Given the description of an element on the screen output the (x, y) to click on. 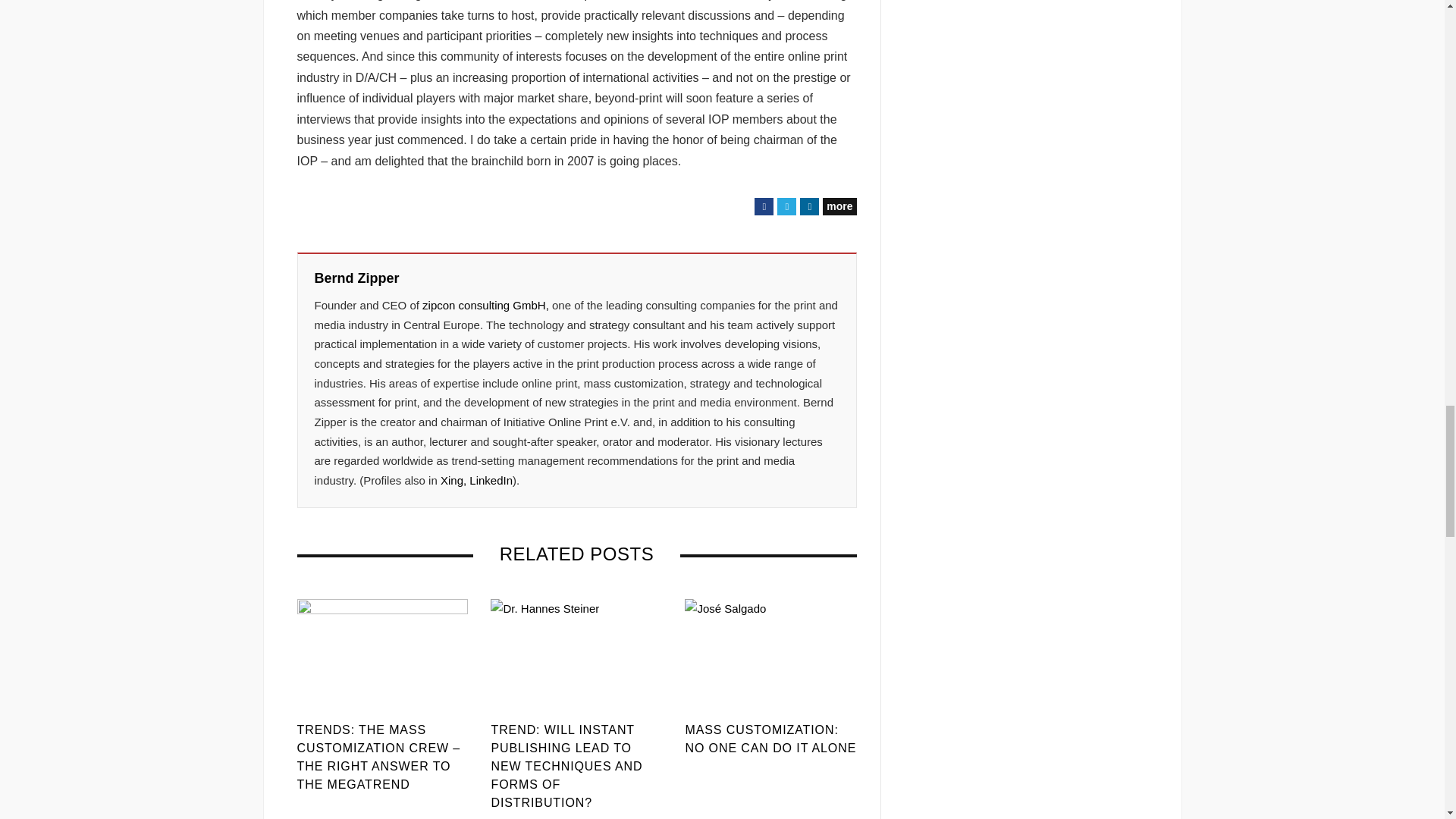
LinkedIn (808, 206)
Tweet It (786, 206)
Bernd Zipper (356, 278)
Share on Facebook (763, 206)
zipcon consulting GmbH, (485, 305)
Share on LinkedIn (808, 206)
more (839, 206)
Posts by Bernd Zipper (356, 278)
Xing, (453, 480)
LinkedIn (490, 480)
Twitter (786, 206)
MASS CUSTOMIZATION: NO ONE CAN DO IT ALONE (770, 739)
Facebook (763, 206)
